Given the description of an element on the screen output the (x, y) to click on. 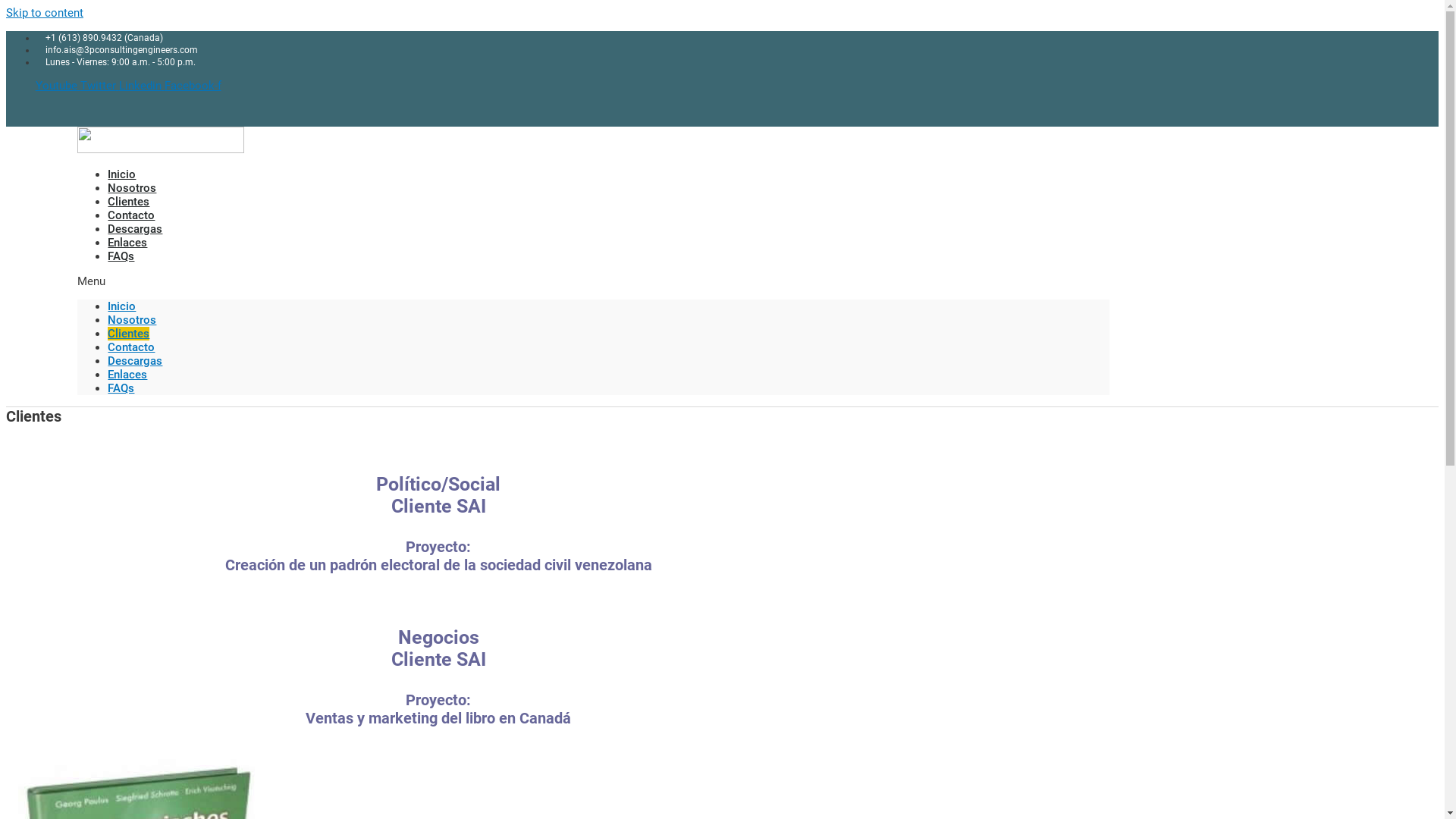
Facebook-f Element type: text (192, 85)
Inicio Element type: text (121, 306)
Inicio Element type: text (121, 174)
Contacto Element type: text (130, 215)
FAQs Element type: text (120, 388)
Clientes Element type: text (128, 201)
Clientes Element type: text (128, 333)
Enlaces Element type: text (127, 242)
FAQs Element type: text (120, 256)
Skip to content Element type: text (44, 12)
Nosotros Element type: text (131, 319)
Descargas Element type: text (134, 360)
Twitter Element type: text (99, 85)
Youtube Element type: text (57, 85)
Linkedin Element type: text (141, 85)
Nosotros Element type: text (131, 188)
Contacto Element type: text (130, 347)
Descargas Element type: text (134, 229)
Enlaces Element type: text (127, 374)
